Given the description of an element on the screen output the (x, y) to click on. 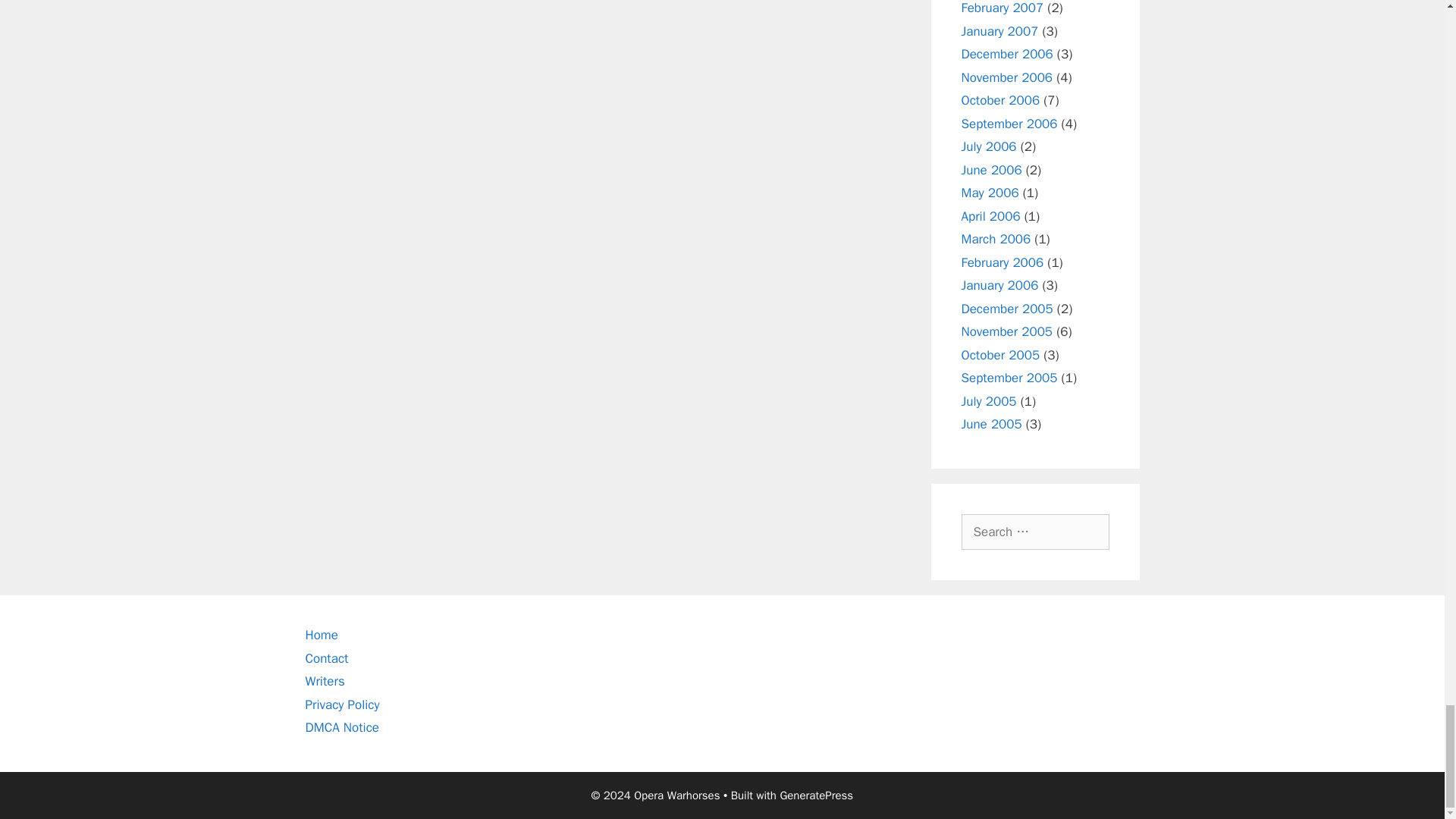
Search for: (1034, 531)
